Given the description of an element on the screen output the (x, y) to click on. 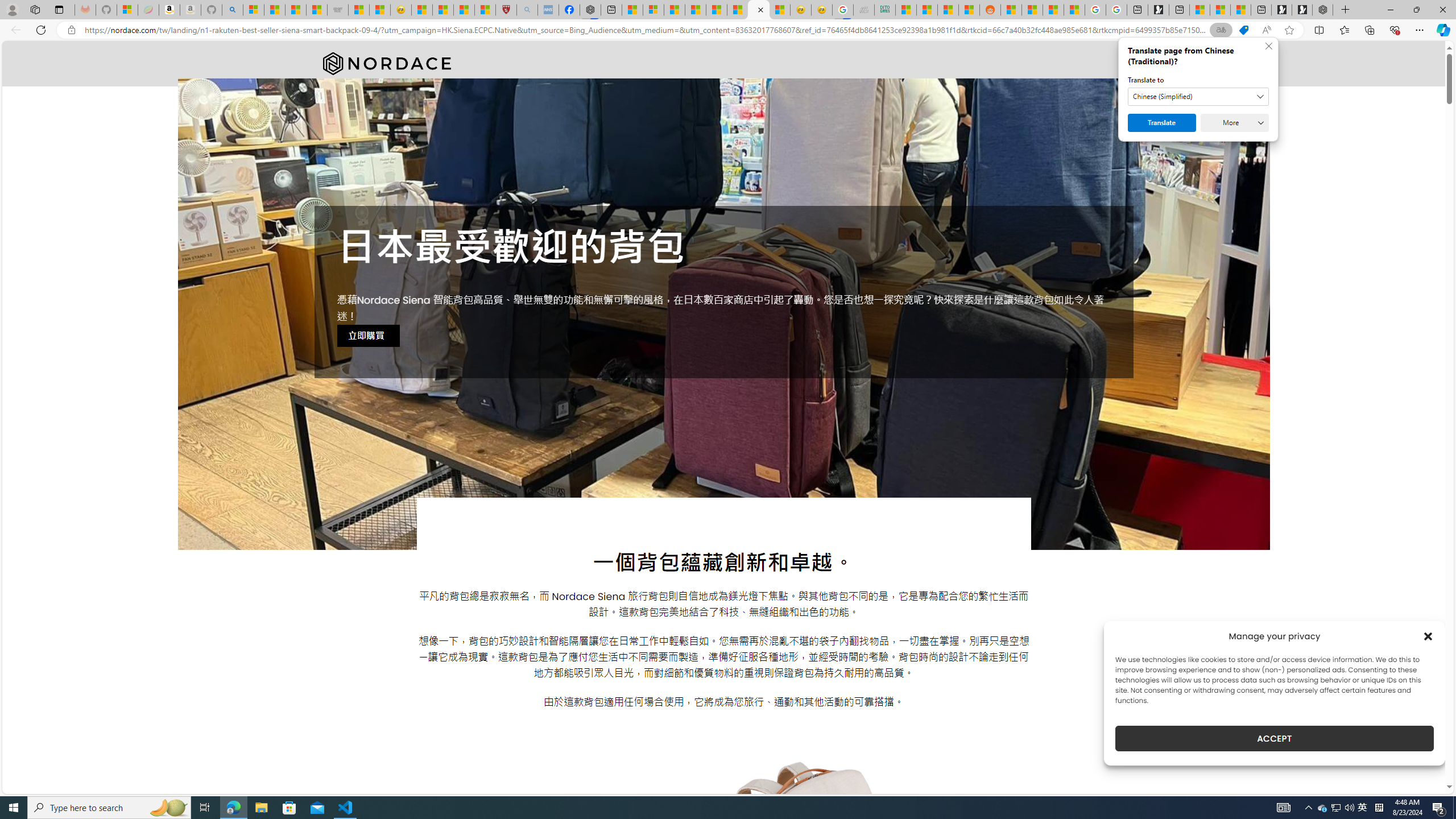
This site has coupons! Shopping in Microsoft Edge (1243, 29)
Nordace - #1 Japanese Best-Seller - Siena Smart Backpack (759, 9)
